Given the description of an element on the screen output the (x, y) to click on. 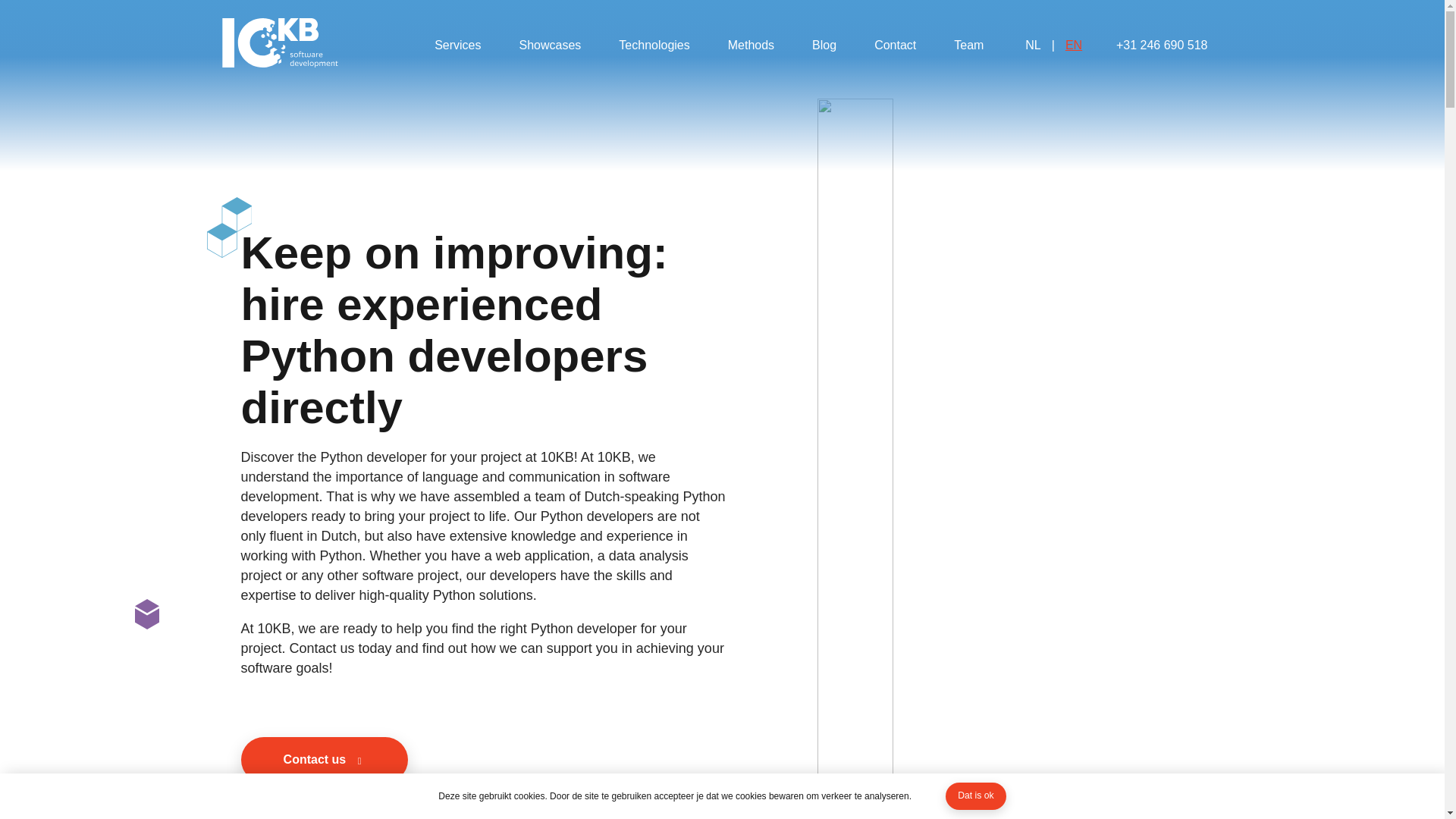
Blog (823, 44)
Showcases (549, 44)
Services (457, 44)
Contact (895, 44)
Blog (823, 44)
Methods (751, 44)
10KB Software development Nijmegen (279, 45)
Contact us (324, 759)
Nederlandstalige Python developers voor jouw project (1053, 44)
Team (968, 44)
